Given the description of an element on the screen output the (x, y) to click on. 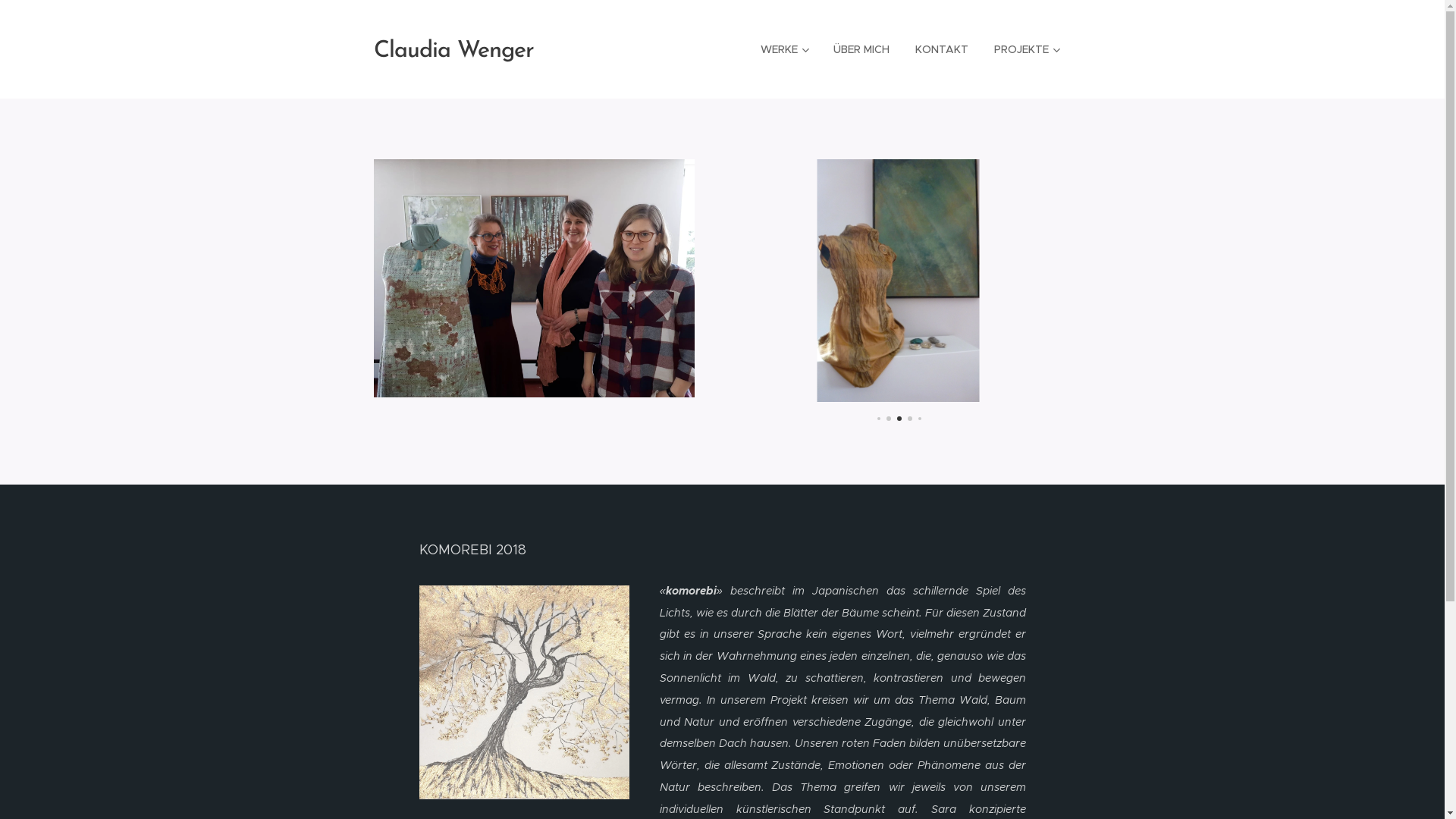
Claudia Wenger Element type: text (453, 49)
PROJEKTE Element type: text (1026, 49)
KONTAKT Element type: text (941, 49)
WERKE Element type: text (783, 49)
